Given the description of an element on the screen output the (x, y) to click on. 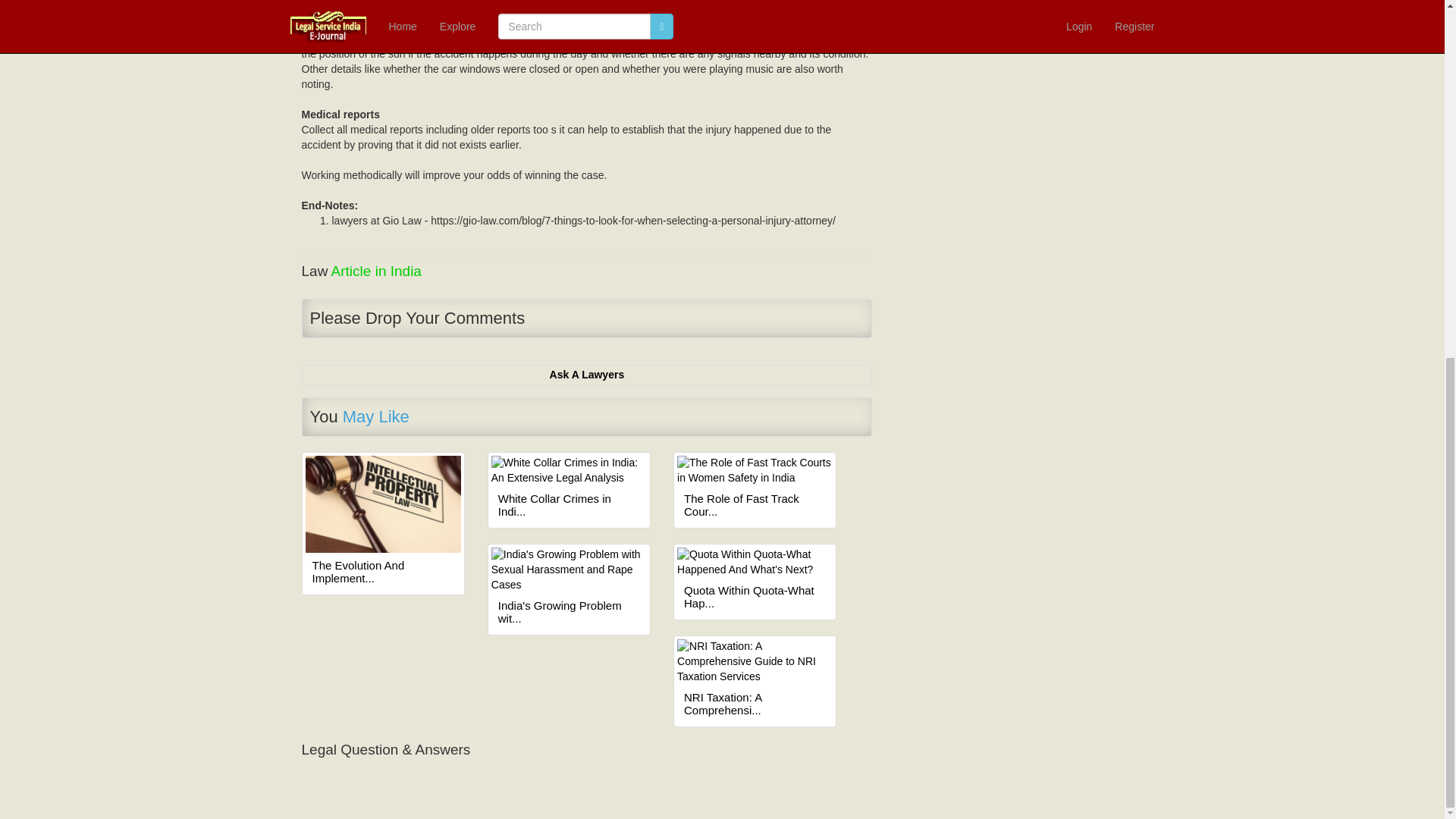
Quota Within Quota-What Hap... (754, 596)
NRI Taxation: A Comprehensi... (754, 703)
Ask A Lawyers (587, 374)
The Evolution And Implement... (383, 571)
White Collar Crimes in Indi... (568, 505)
The Role of Fast Track Cour... (754, 505)
India's Growing Problem wit... (568, 611)
